Given the description of an element on the screen output the (x, y) to click on. 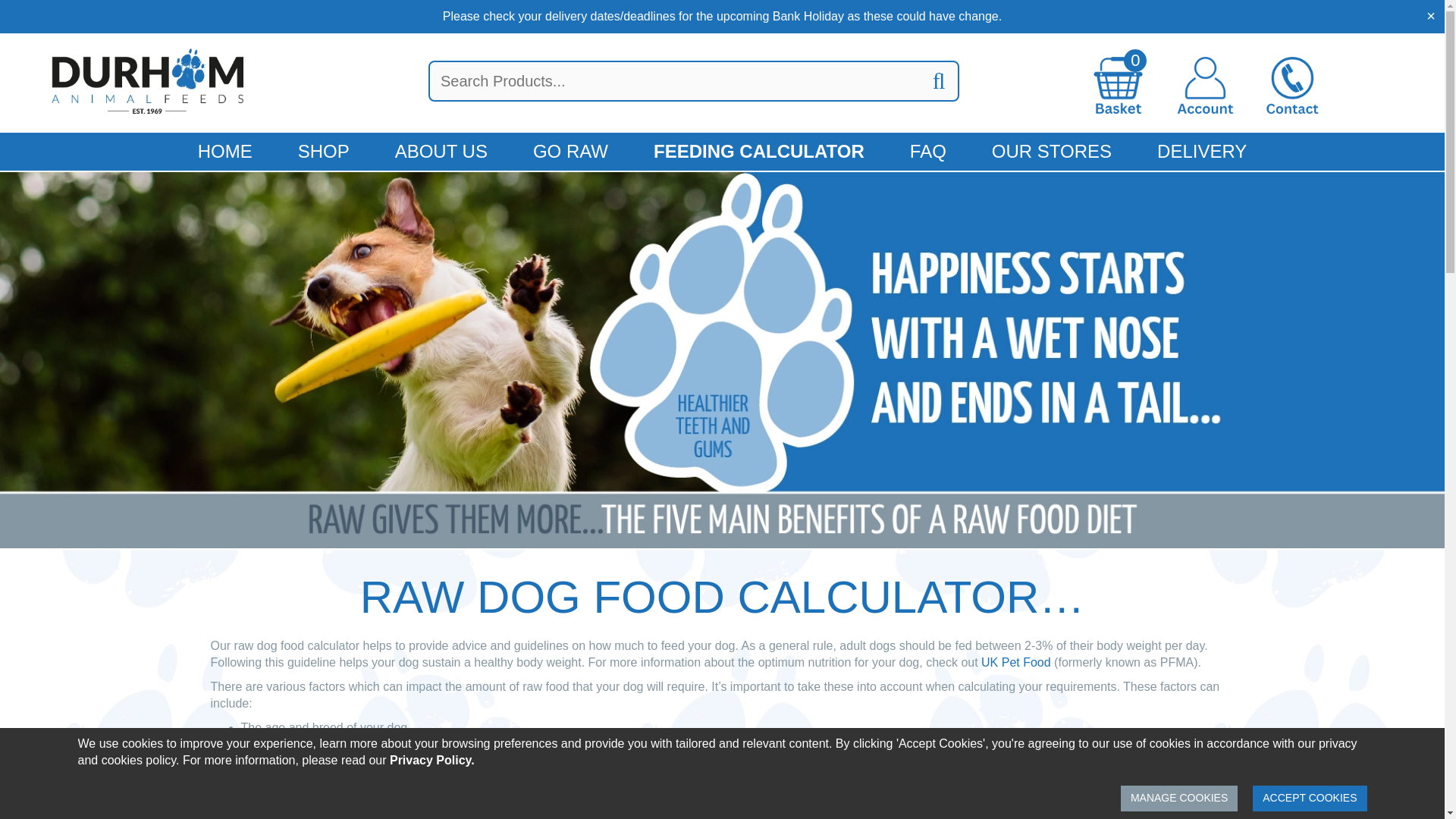
Login (1204, 84)
HOME (224, 151)
Go To Basket (1118, 84)
FAQ (927, 151)
on (1063, 773)
DELIVERY (1201, 151)
FEEDING CALCULATOR (758, 151)
Login (1204, 84)
ABOUT US (441, 151)
SHOP (323, 151)
OUR STORES (1051, 151)
on (386, 773)
Contact (1291, 84)
Search (939, 80)
